Given the description of an element on the screen output the (x, y) to click on. 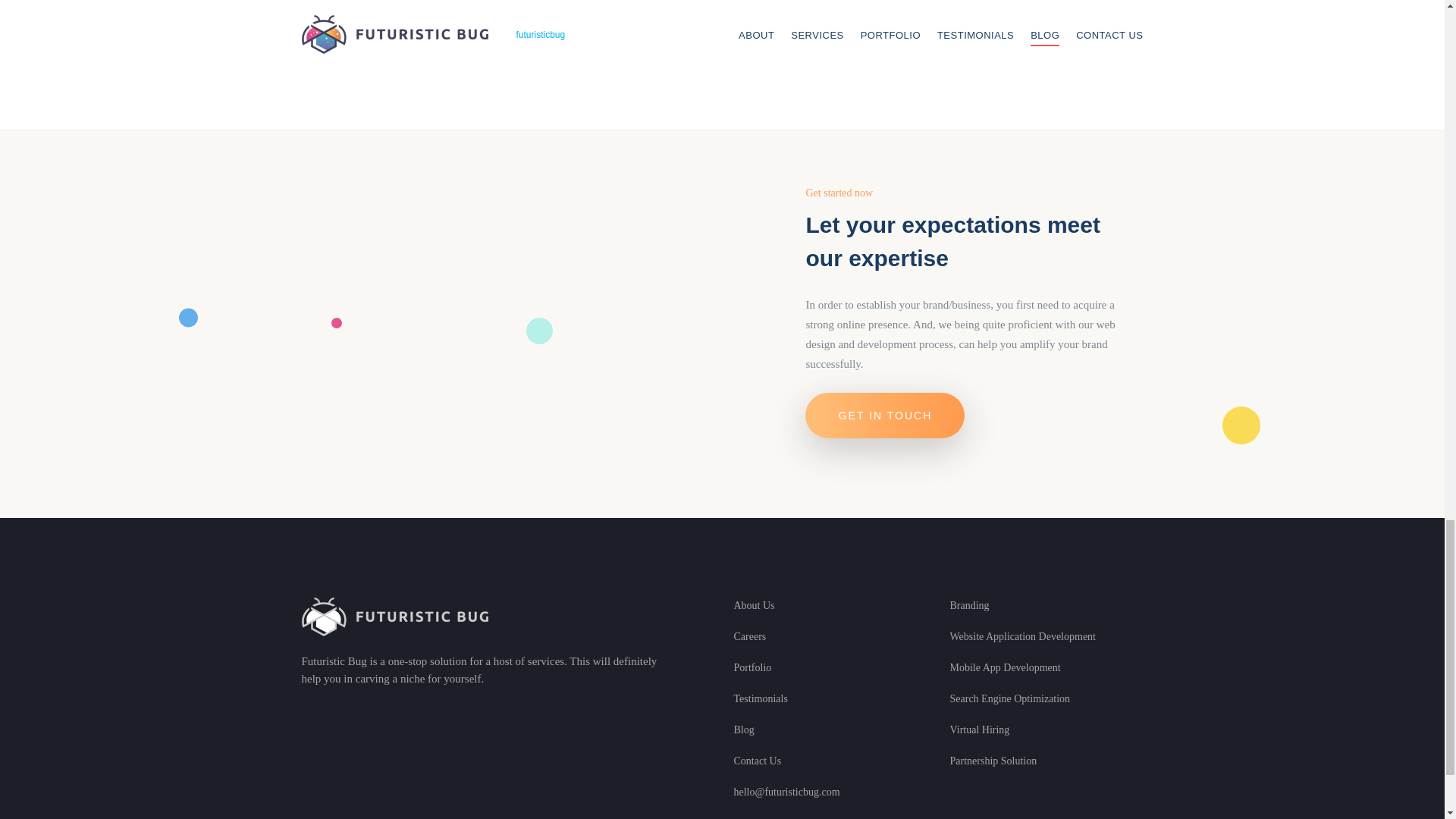
Website Application Development (1022, 636)
Search Engine Optimization (1009, 698)
READ MORE (366, 8)
Testimonials (760, 698)
Blog (743, 729)
Portfolio (752, 667)
READ MORE (654, 8)
Virtual Hiring (979, 729)
GET IN TOUCH (884, 415)
Partnership Solution (992, 760)
